Given the description of an element on the screen output the (x, y) to click on. 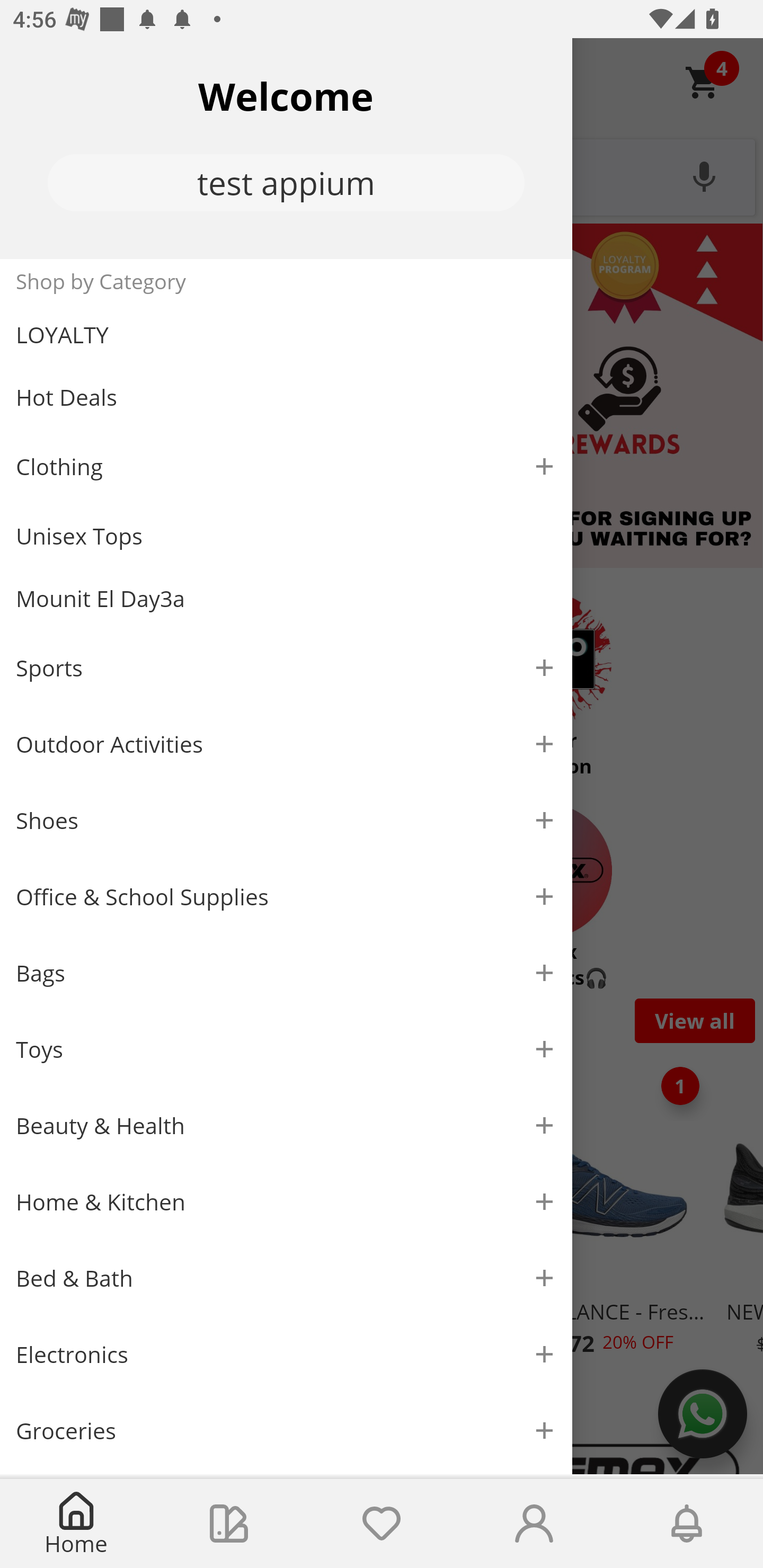
Welcome test appium (286, 147)
What are you looking for? (381, 175)
LOYALTY (286, 334)
Hot Deals (286, 396)
Clothing (286, 466)
Unisex Tops (286, 535)
Mounit El Day3a (286, 598)
Sports (286, 667)
Outdoor Activities (286, 743)
Shoes (286, 820)
Office & School Supplies (286, 896)
Bags (286, 972)
Toys (286, 1049)
Beauty & Health (286, 1125)
Home & Kitchen (286, 1201)
Bed & Bath (286, 1278)
Electronics (286, 1354)
Groceries (286, 1430)
Collections (228, 1523)
Wishlist (381, 1523)
Account (533, 1523)
Notifications (686, 1523)
